Given the description of an element on the screen output the (x, y) to click on. 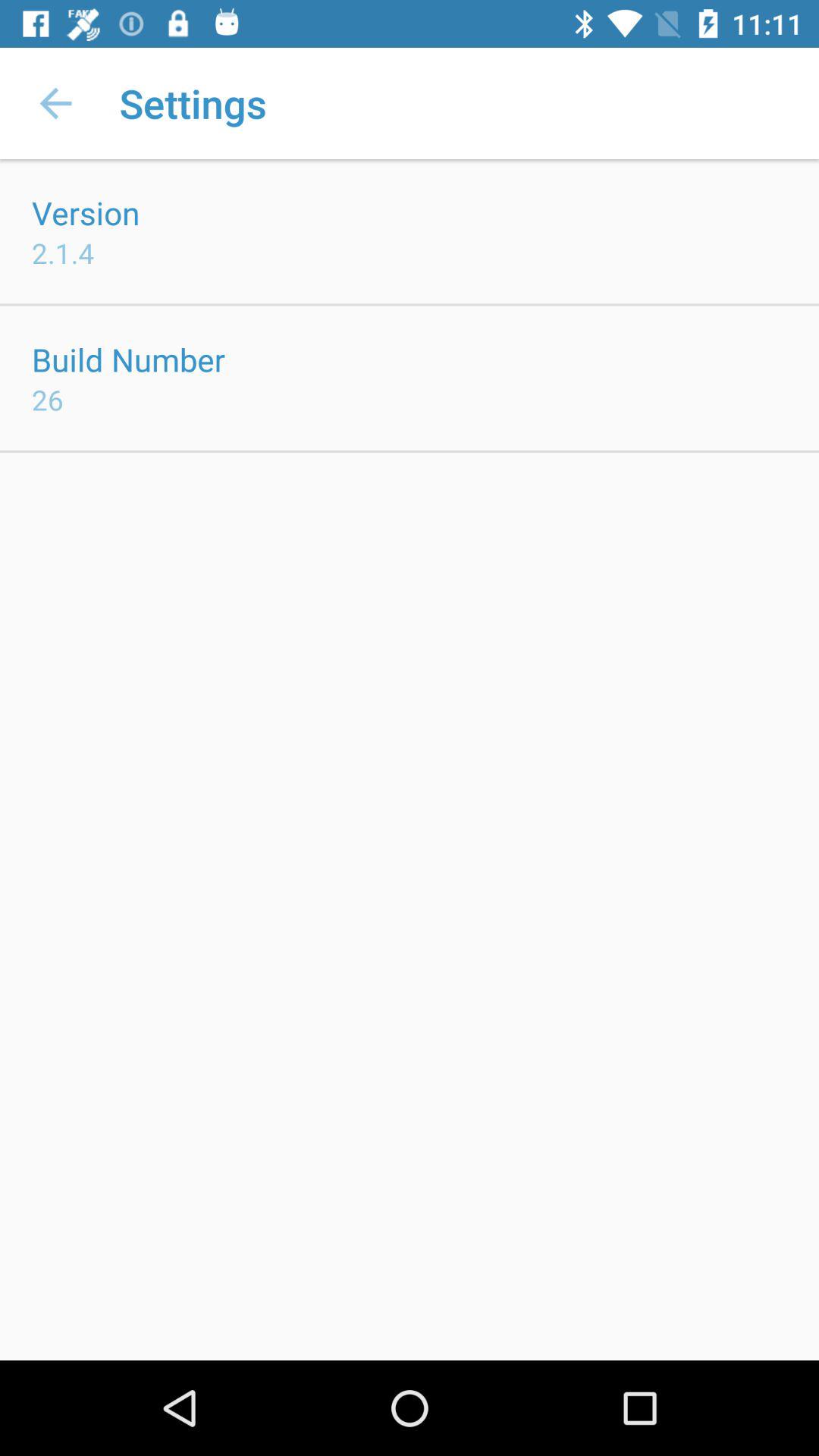
scroll to 2.1.4 icon (62, 252)
